Given the description of an element on the screen output the (x, y) to click on. 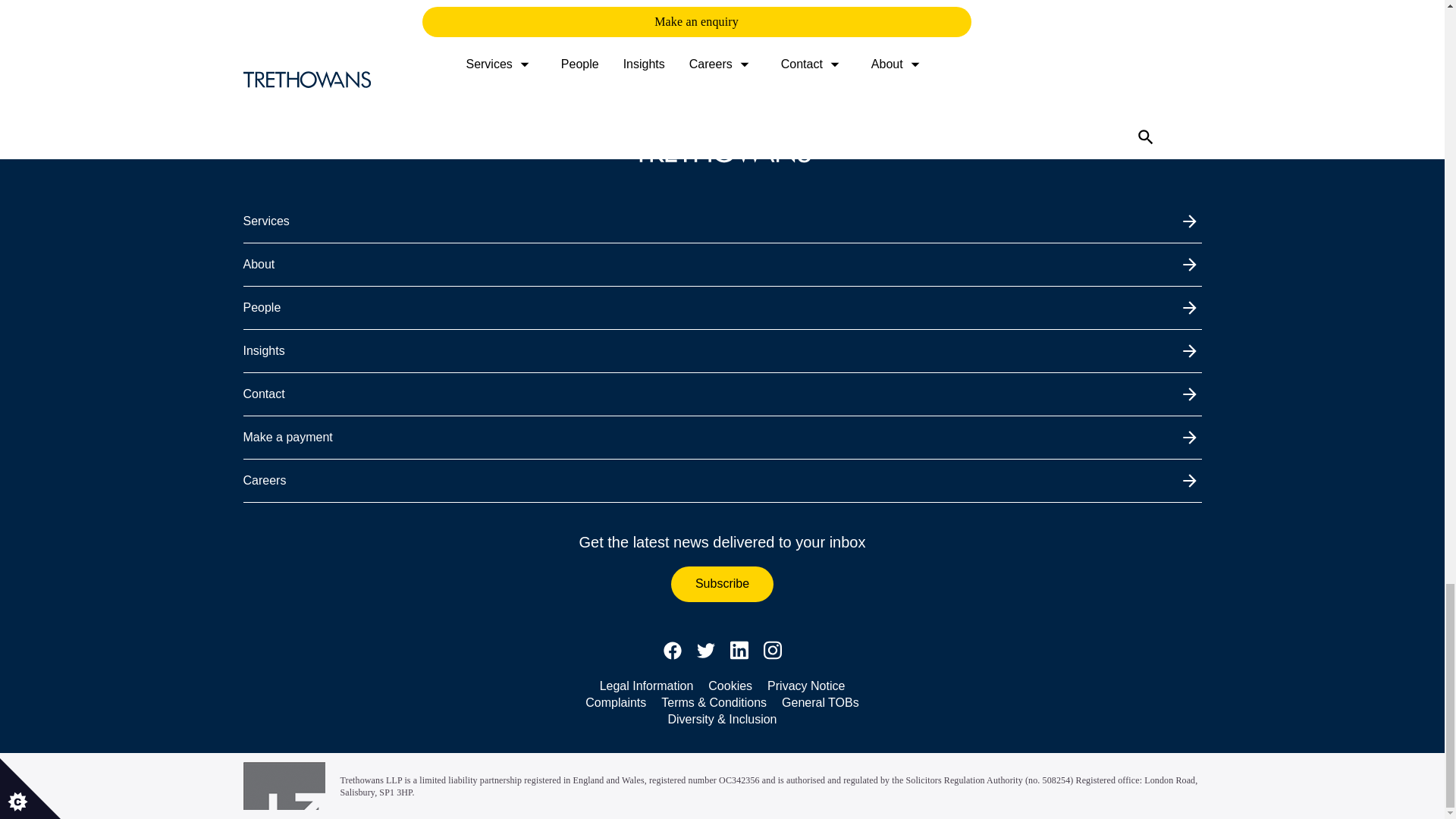
Trethowans - linkedin (738, 650)
Trethowans - twitter (705, 650)
Trethowans - facebook (671, 650)
Trethowans - instagram (772, 650)
